Given the description of an element on the screen output the (x, y) to click on. 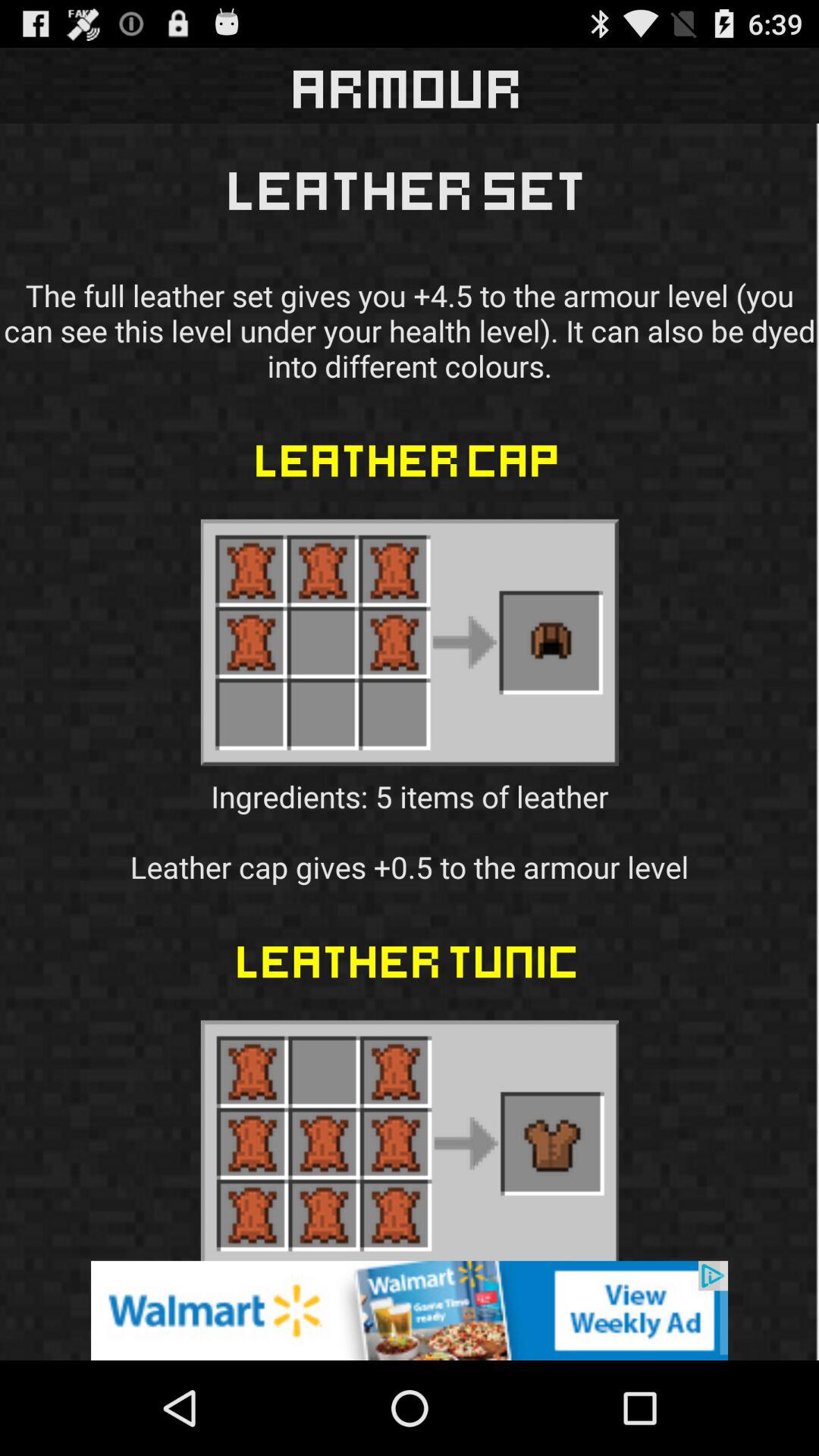
click advertisement (409, 1310)
